Given the description of an element on the screen output the (x, y) to click on. 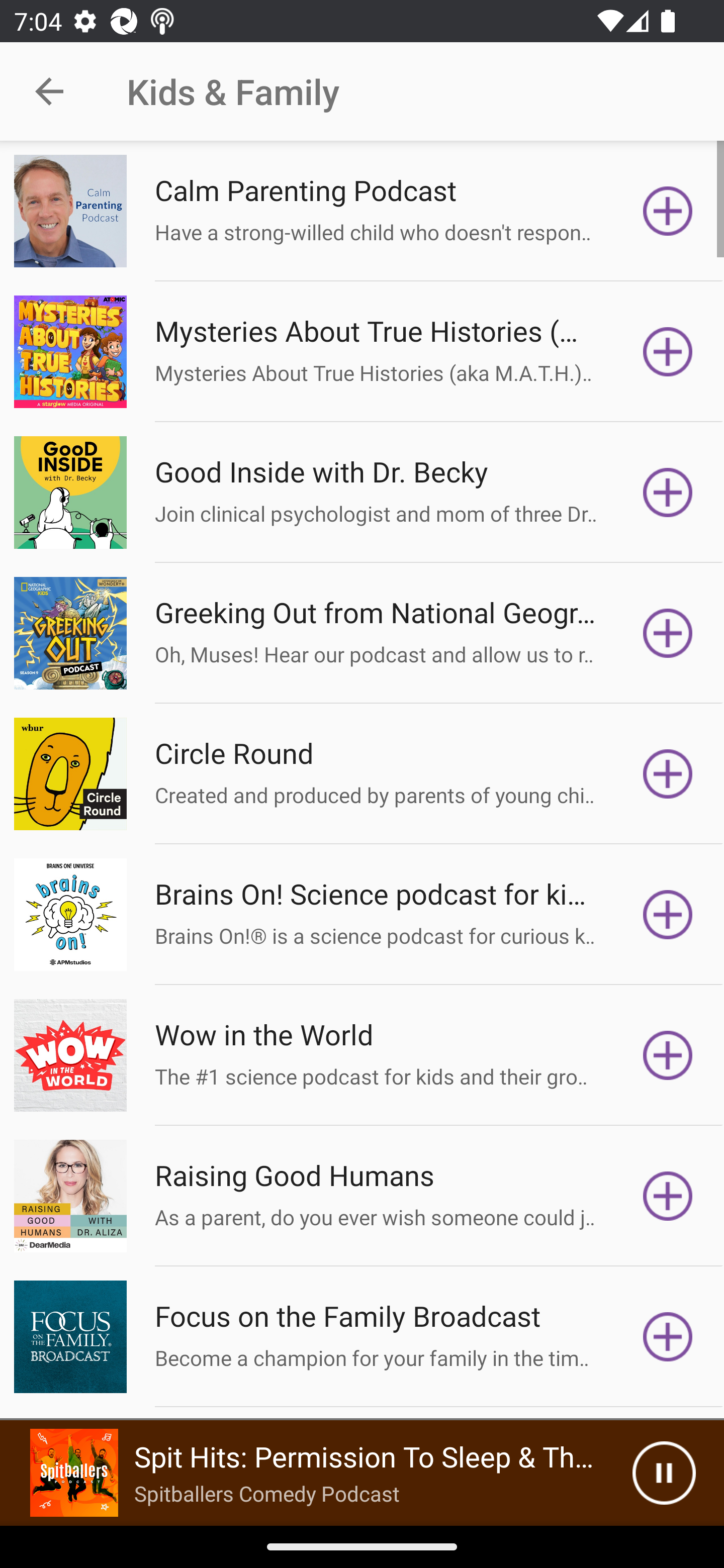
Navigate up (49, 91)
Subscribe (667, 211)
Subscribe (667, 350)
Subscribe (667, 491)
Subscribe (667, 633)
Subscribe (667, 773)
Subscribe (667, 913)
Subscribe (667, 1054)
Subscribe (667, 1195)
Subscribe (667, 1336)
Pause (663, 1472)
